Given the description of an element on the screen output the (x, y) to click on. 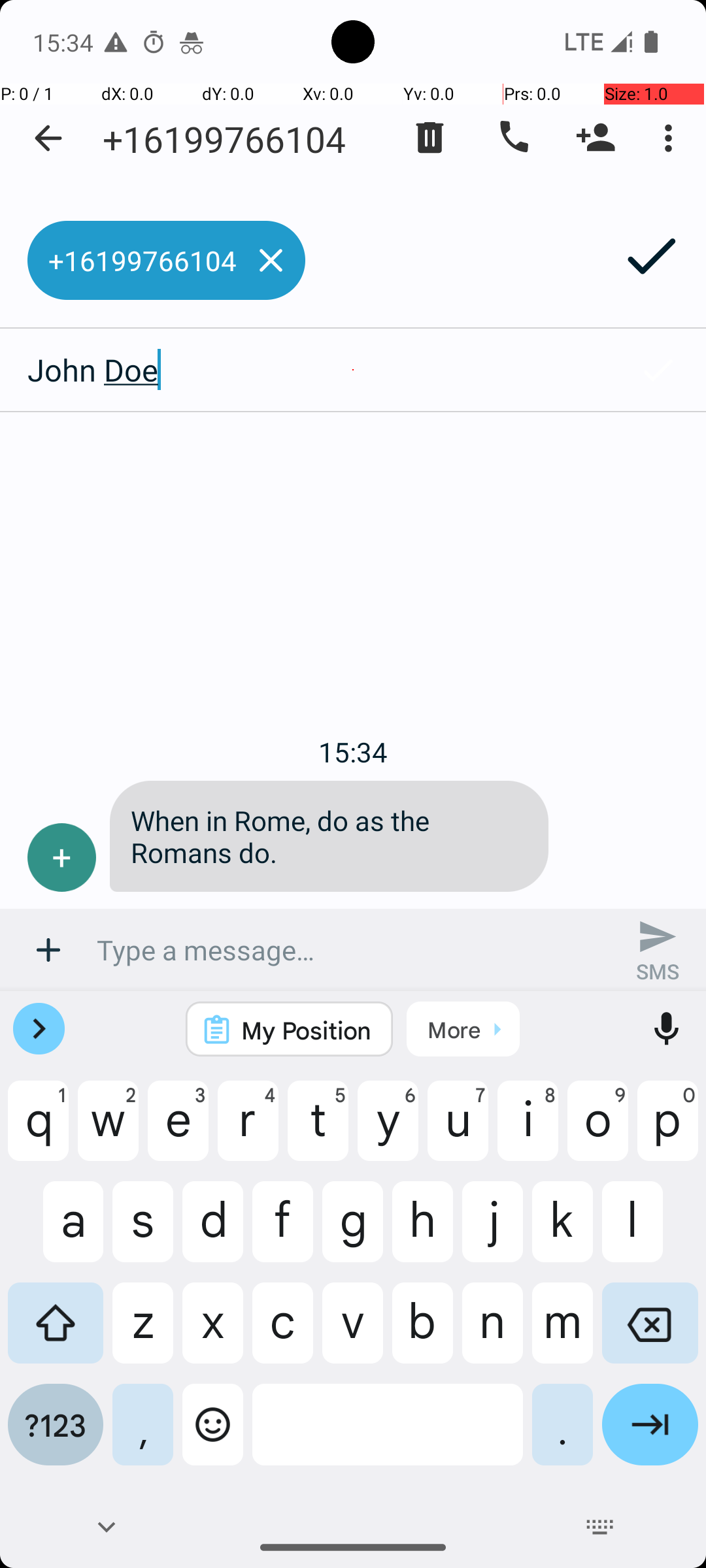
+16199766104 Element type: android.widget.TextView (223, 138)
Dial number Element type: android.widget.Button (512, 137)
Add Person Element type: android.widget.Button (595, 137)
John Doe Element type: android.widget.AutoCompleteTextView (304, 369)
Confirm selection Element type: android.widget.ImageView (657, 369)
Attachment Element type: android.widget.ImageView (48, 949)
Type a message… Element type: android.widget.EditText (352, 949)
SMS Element type: android.widget.Button (657, 949)
When in Rome, do as the Romans do. Element type: android.widget.TextView (328, 835)
